Given the description of an element on the screen output the (x, y) to click on. 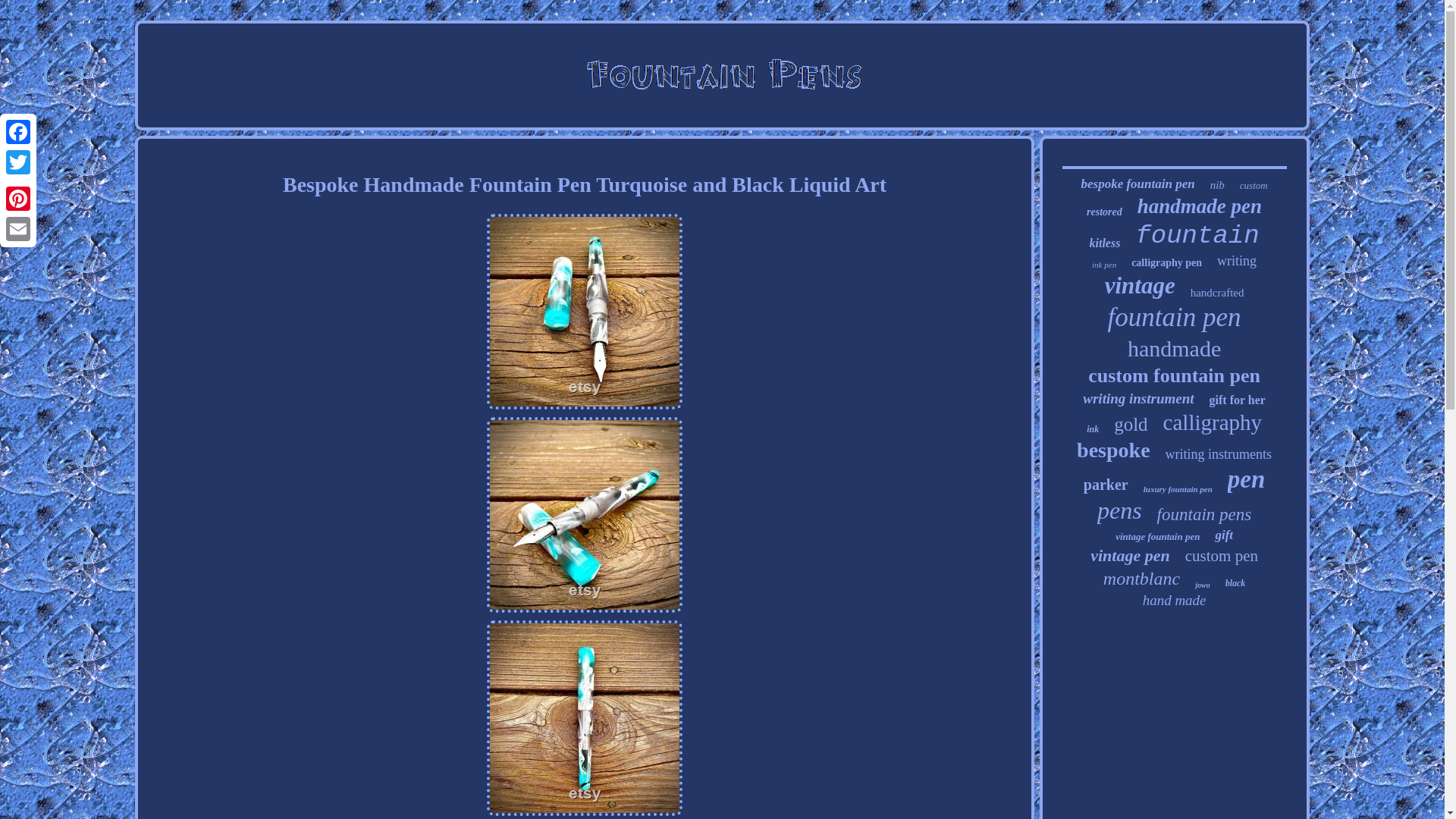
fountain (1197, 235)
custom fountain pen (1173, 375)
ink pen (1104, 264)
Bespoke Handmade Fountain Pen Turquoise and Black Liquid Art (584, 717)
gold (1130, 424)
Email (17, 228)
bespoke fountain pen (1136, 183)
luxury fountain pen (1177, 488)
vintage fountain pen (1157, 536)
custom (1254, 185)
kitless (1105, 243)
writing instrument (1138, 398)
restored (1104, 212)
vintage (1139, 285)
pen (1246, 479)
